Given the description of an element on the screen output the (x, y) to click on. 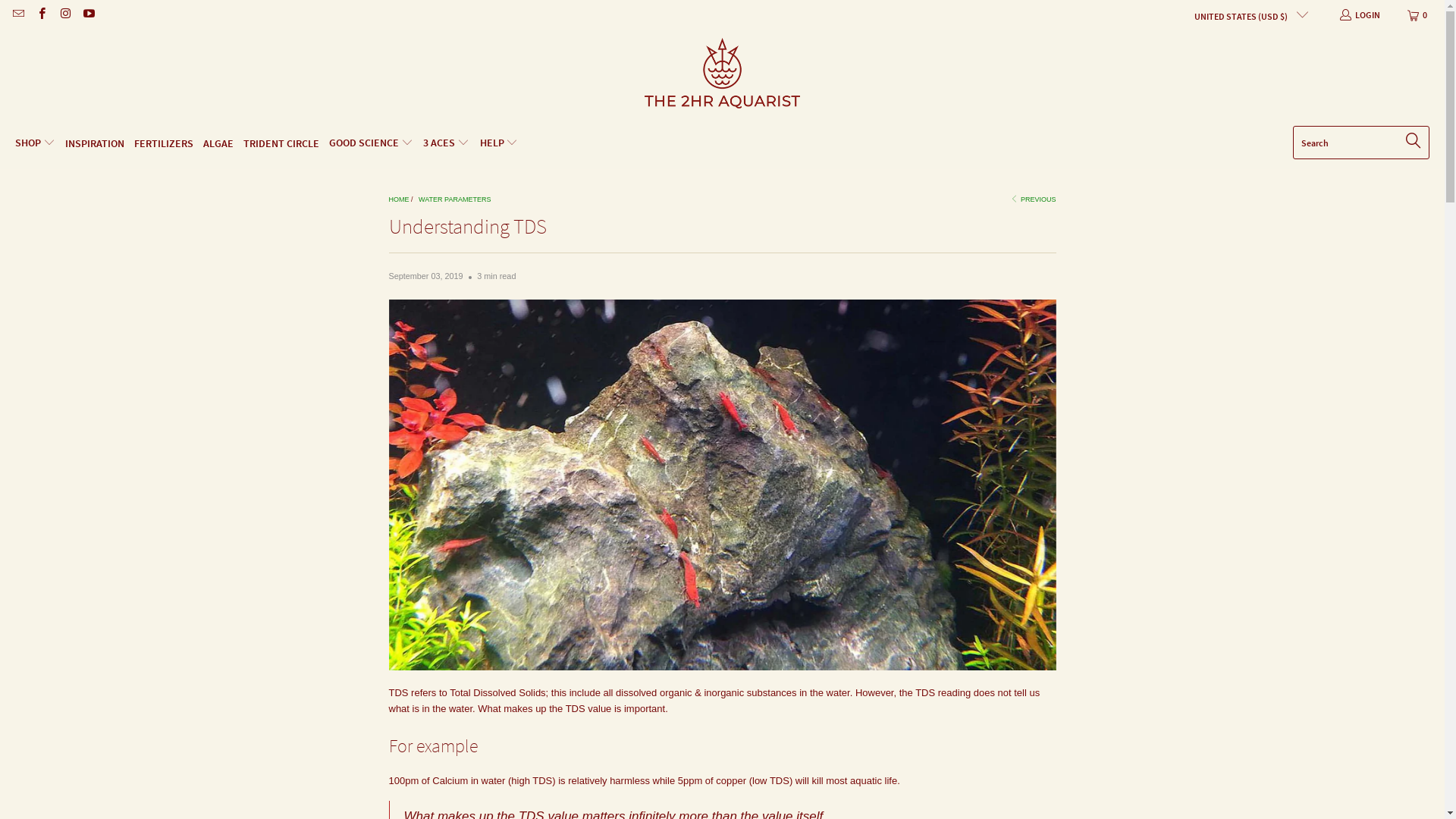
FERTILIZERS Element type: text (163, 143)
The 2Hr Aquarist Element type: hover (722, 81)
The 2Hr Aquarist on YouTube Element type: hover (87, 14)
HOME Element type: text (398, 199)
TRIDENT CIRCLE Element type: text (281, 143)
The 2Hr Aquarist on Instagram Element type: hover (64, 14)
Email The 2Hr Aquarist Element type: hover (17, 14)
LOGIN Element type: text (1359, 15)
WATER PARAMETERS Element type: text (454, 199)
PREVIOUS Element type: text (1032, 199)
UNITED STATES (USD $) Element type: text (1244, 15)
The 2Hr Aquarist on Facebook Element type: hover (40, 14)
ALGAE Element type: text (218, 143)
INSPIRATION Element type: text (94, 143)
0 Element type: text (1417, 15)
